Given the description of an element on the screen output the (x, y) to click on. 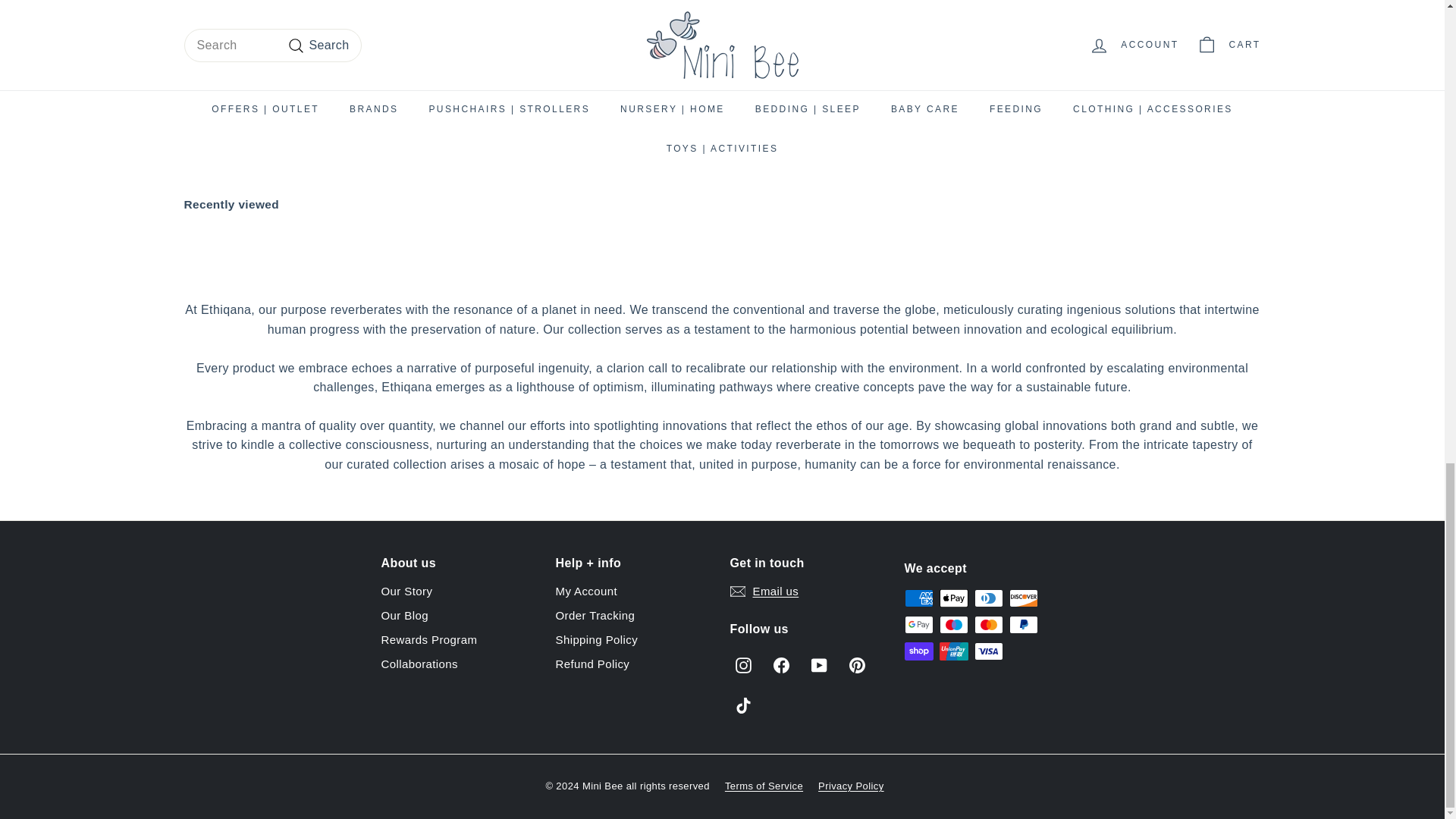
Mini Bee on YouTube (818, 664)
Mini Bee on Instagram (742, 664)
Mini Bee on TikTok (742, 705)
Mini Bee on Facebook (780, 664)
instagram (743, 665)
Mini Bee on Pinterest (856, 664)
